Given the description of an element on the screen output the (x, y) to click on. 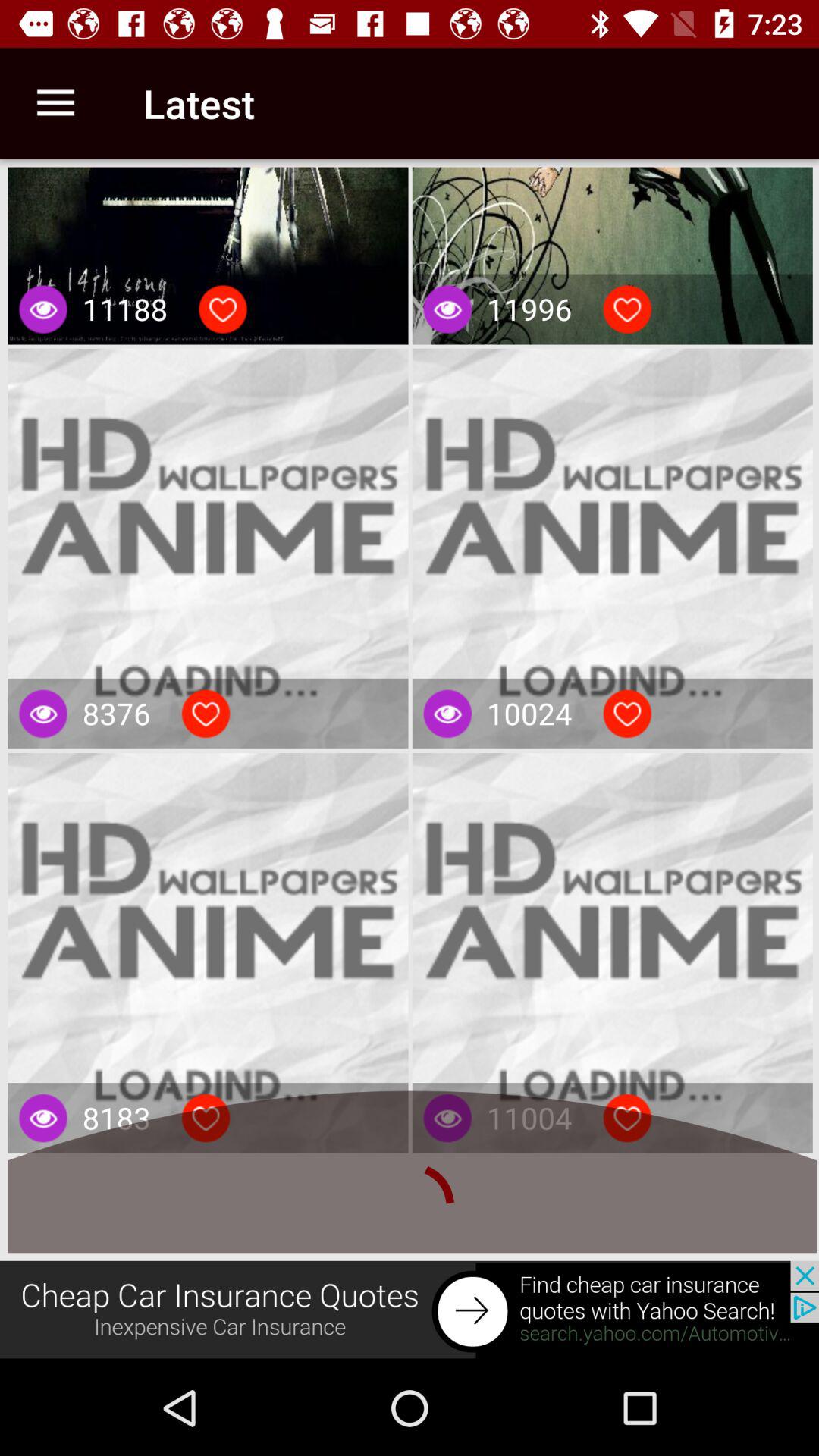
like button (205, 713)
